Given the description of an element on the screen output the (x, y) to click on. 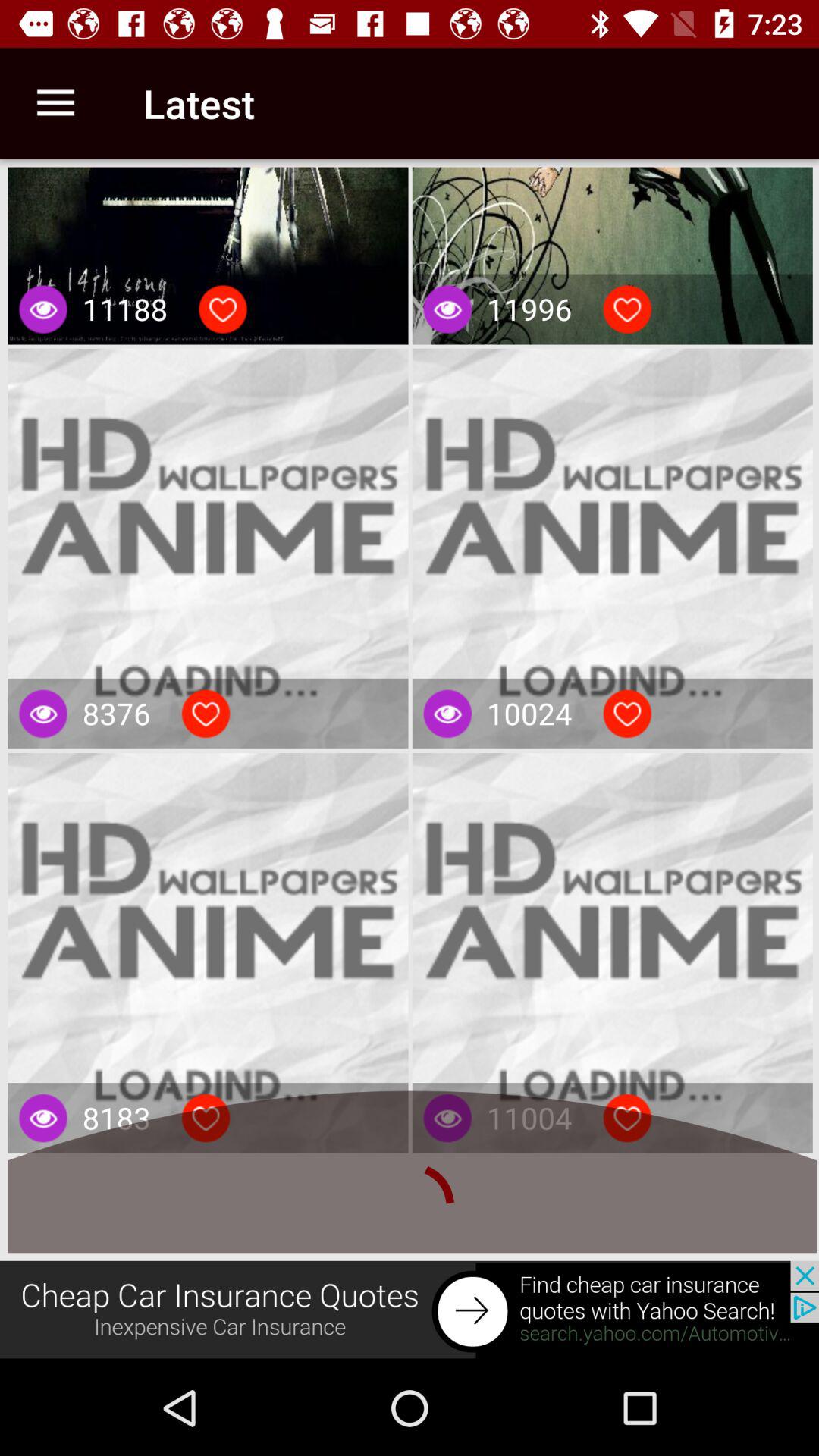
like button (205, 713)
